Given the description of an element on the screen output the (x, y) to click on. 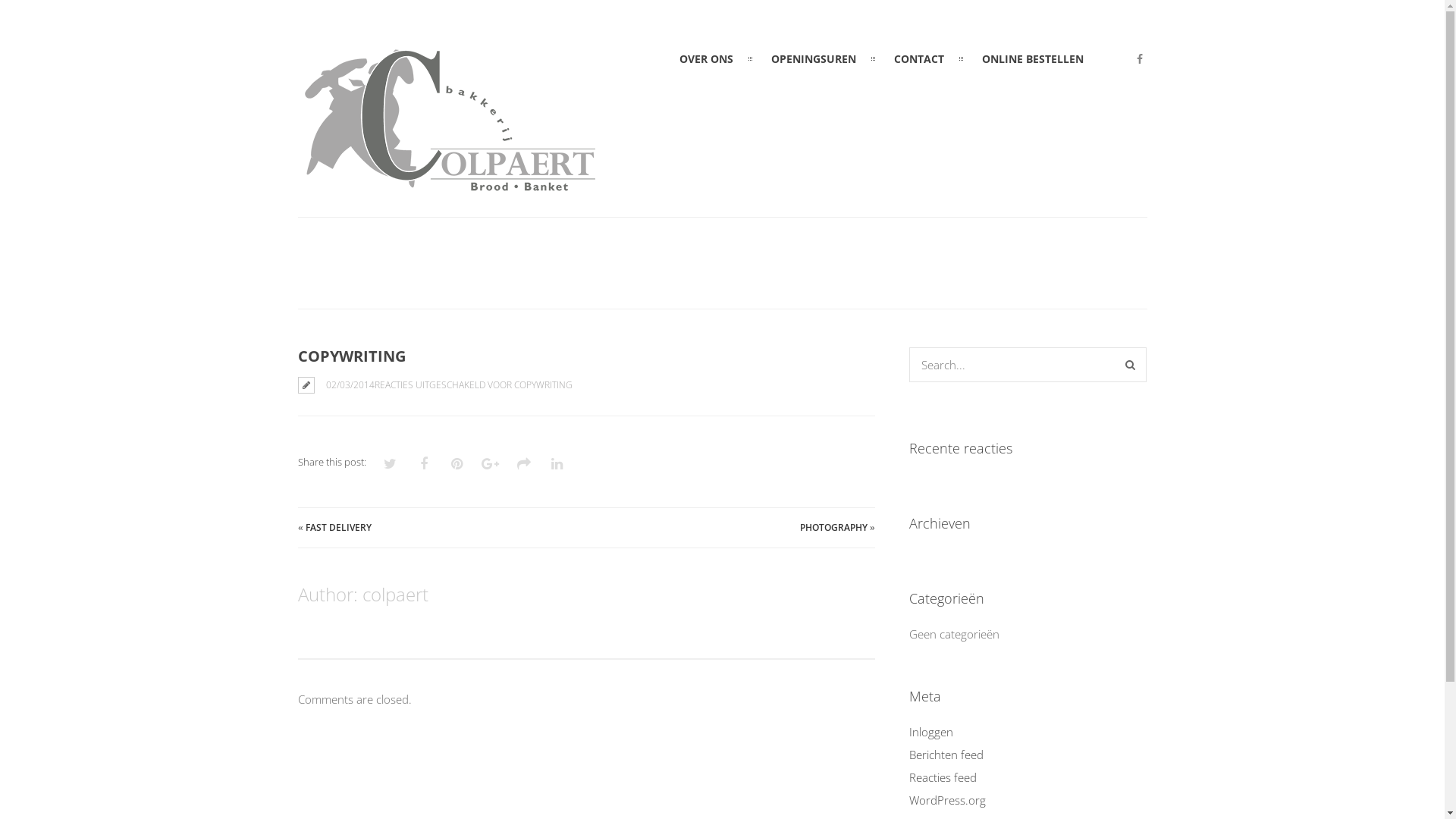
WordPress.org Element type: text (947, 799)
PHOTOGRAPHY Element type: text (833, 526)
Reacties feed Element type: text (942, 776)
CONTACT Element type: text (918, 58)
OPENINGSUREN Element type: text (813, 58)
OVER ONS Element type: text (706, 58)
Inloggen Element type: text (931, 731)
facebook Element type: hover (1139, 59)
ONLINE BESTELLEN Element type: text (1032, 58)
Berichten feed Element type: text (946, 754)
Search Element type: text (1129, 364)
Bakkerij Colpaert Element type: hover (448, 188)
FAST DELIVERY Element type: text (337, 526)
